Given the description of an element on the screen output the (x, y) to click on. 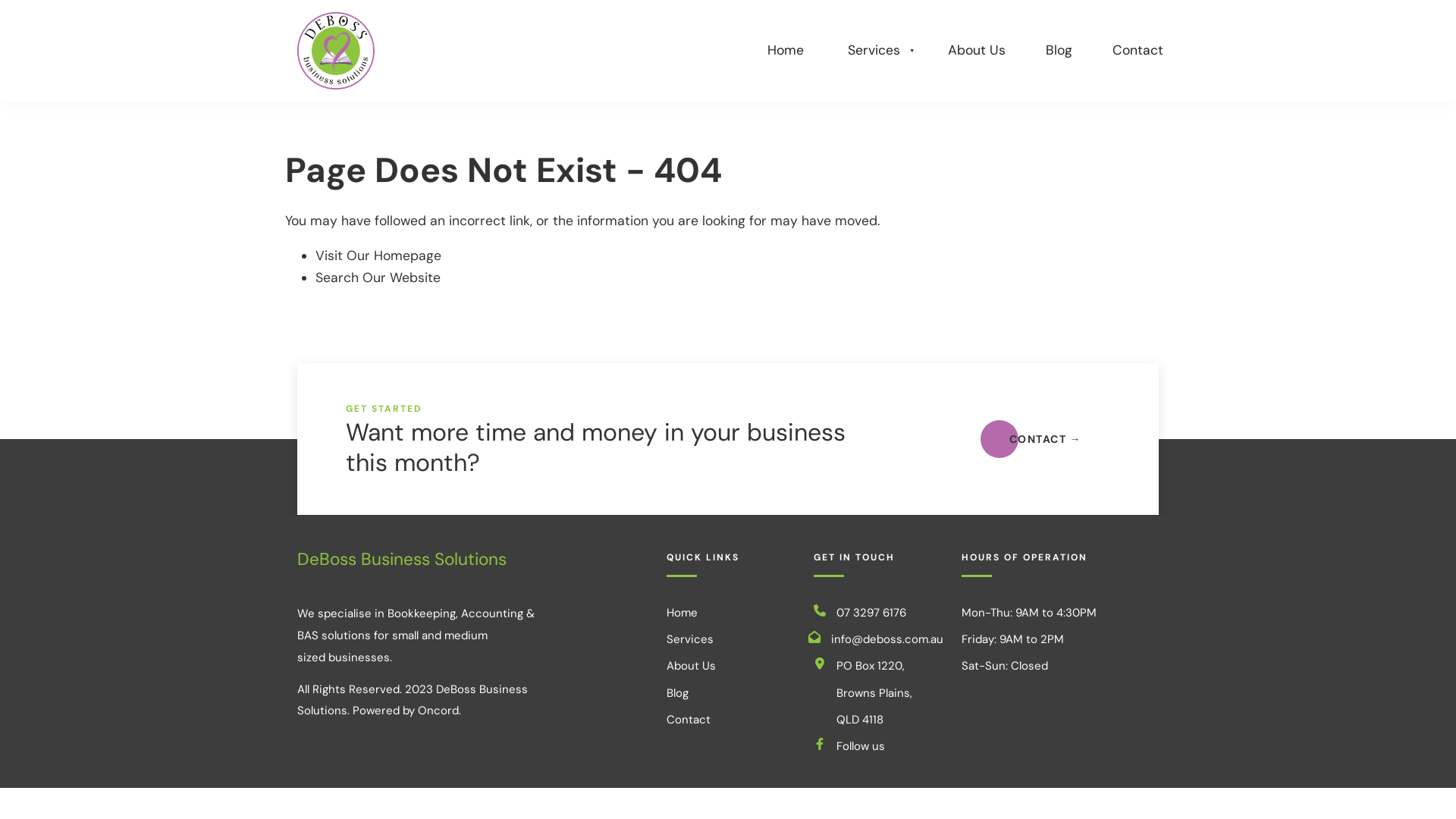
Services Element type: text (876, 50)
Visit Our Homepage Element type: text (378, 255)
Contact Element type: text (688, 719)
Blog Element type: text (677, 692)
Contact Element type: text (1137, 50)
Services Element type: text (689, 638)
CONTACT Element type: text (1044, 439)
About Us Element type: text (690, 665)
Home Element type: text (681, 612)
Home Element type: text (785, 50)
Search Our Website Element type: text (377, 277)
About Us Element type: text (977, 50)
Follow us Element type: text (886, 746)
Blog Element type: text (1058, 50)
